Given the description of an element on the screen output the (x, y) to click on. 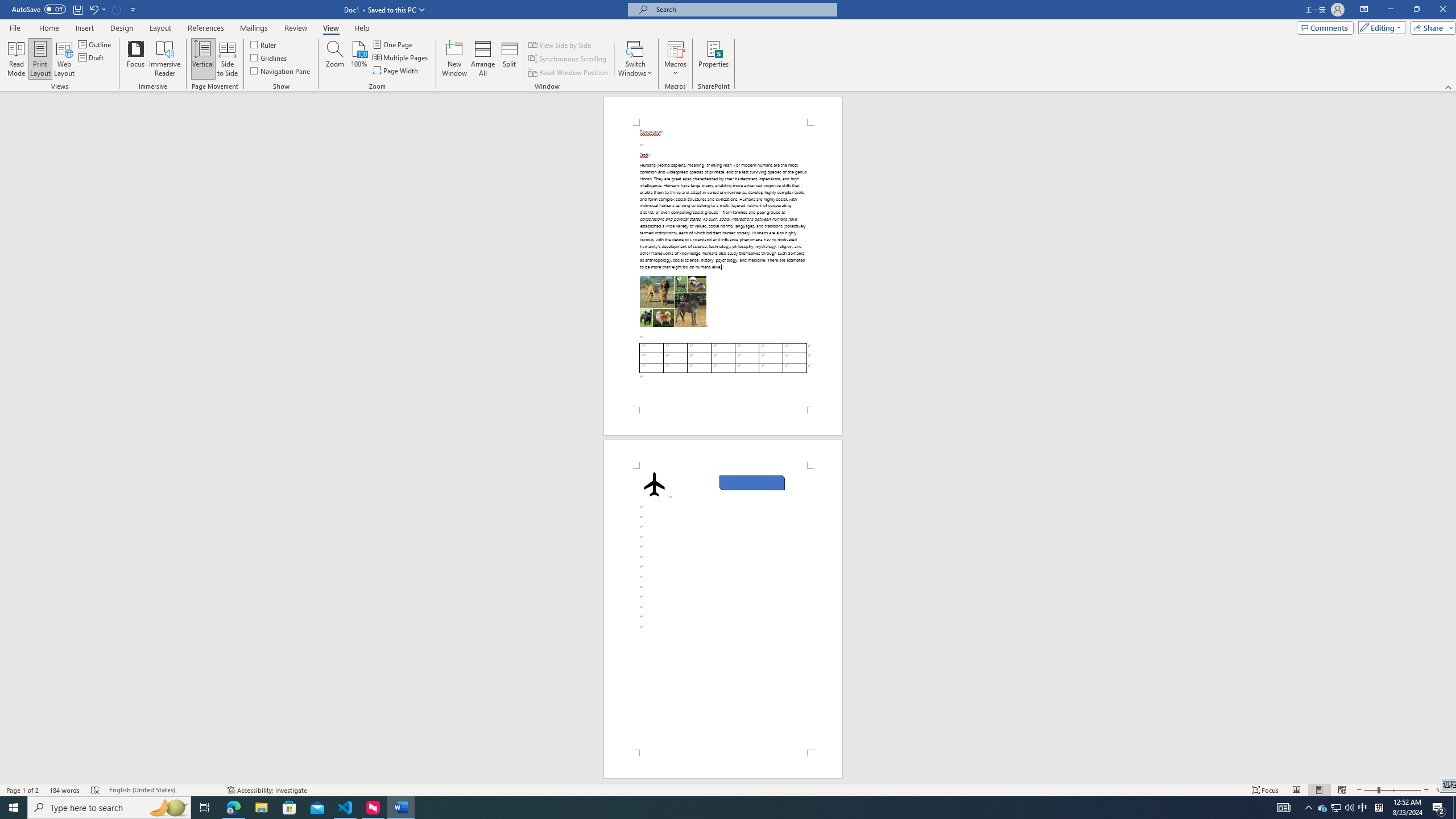
Spelling and Grammar Check Errors (94, 790)
Page Number Page 1 of 2 (22, 790)
Reset Window Position (569, 72)
Multiple Pages (400, 56)
Editing (1379, 27)
View Side by Side (561, 44)
Immersive Reader (165, 58)
